Given the description of an element on the screen output the (x, y) to click on. 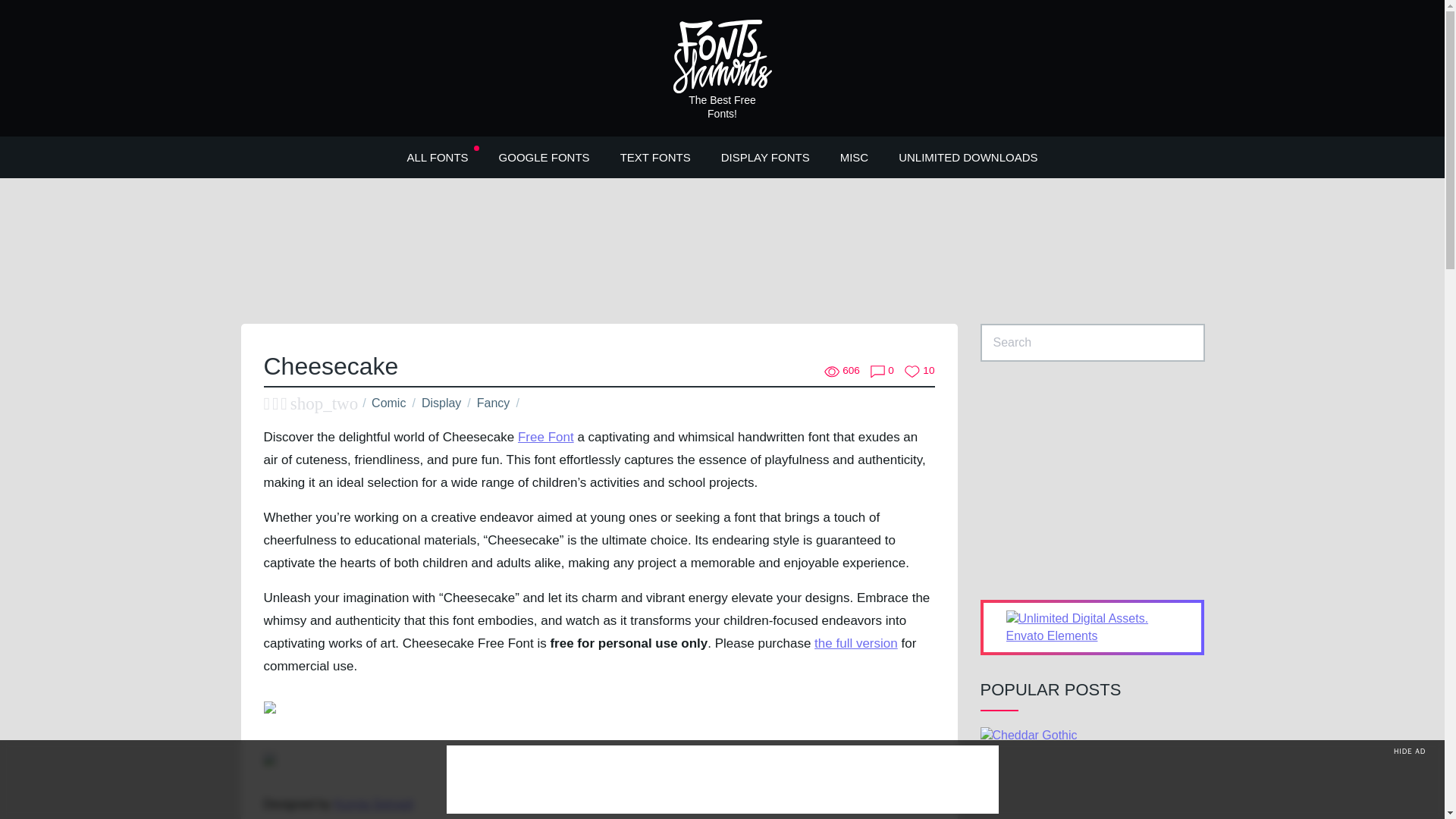
ALL FONTS (437, 156)
TEXT FONTS (655, 156)
Free Font (545, 436)
Text Fonts (655, 156)
the full version (855, 643)
606 (842, 370)
0 (881, 370)
GOOGLE FONTS (544, 156)
10 (919, 370)
MISC (854, 156)
